Given the description of an element on the screen output the (x, y) to click on. 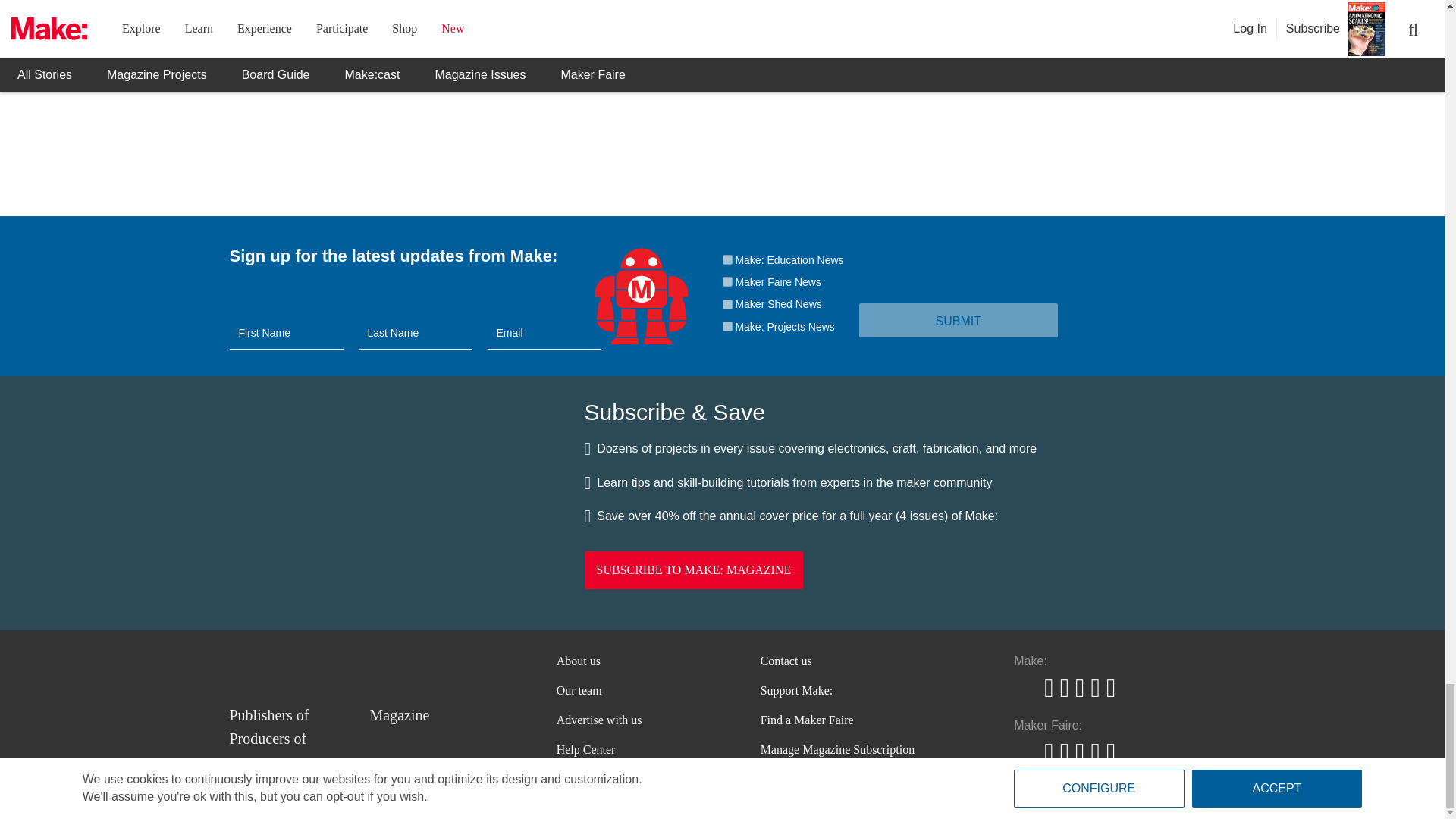
Maker Faire News (727, 281)
Maker Shed News (727, 304)
Make: Education News (727, 259)
Make: Projects News (727, 326)
